Given the description of an element on the screen output the (x, y) to click on. 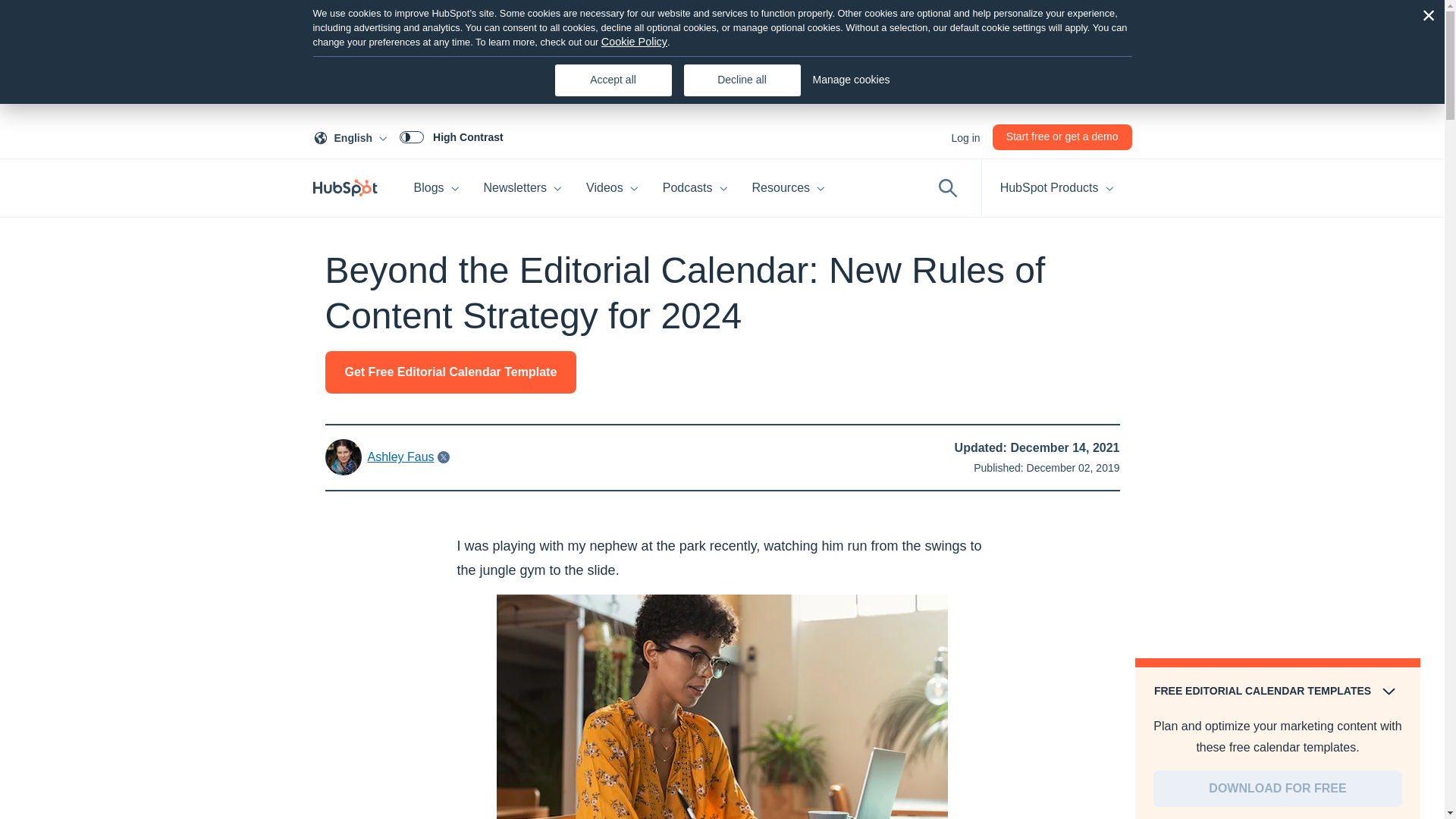
Newsletters (523, 187)
Log in (353, 136)
Blogs (964, 137)
High Contrast (436, 187)
Start free or get a demo (450, 137)
